Given the description of an element on the screen output the (x, y) to click on. 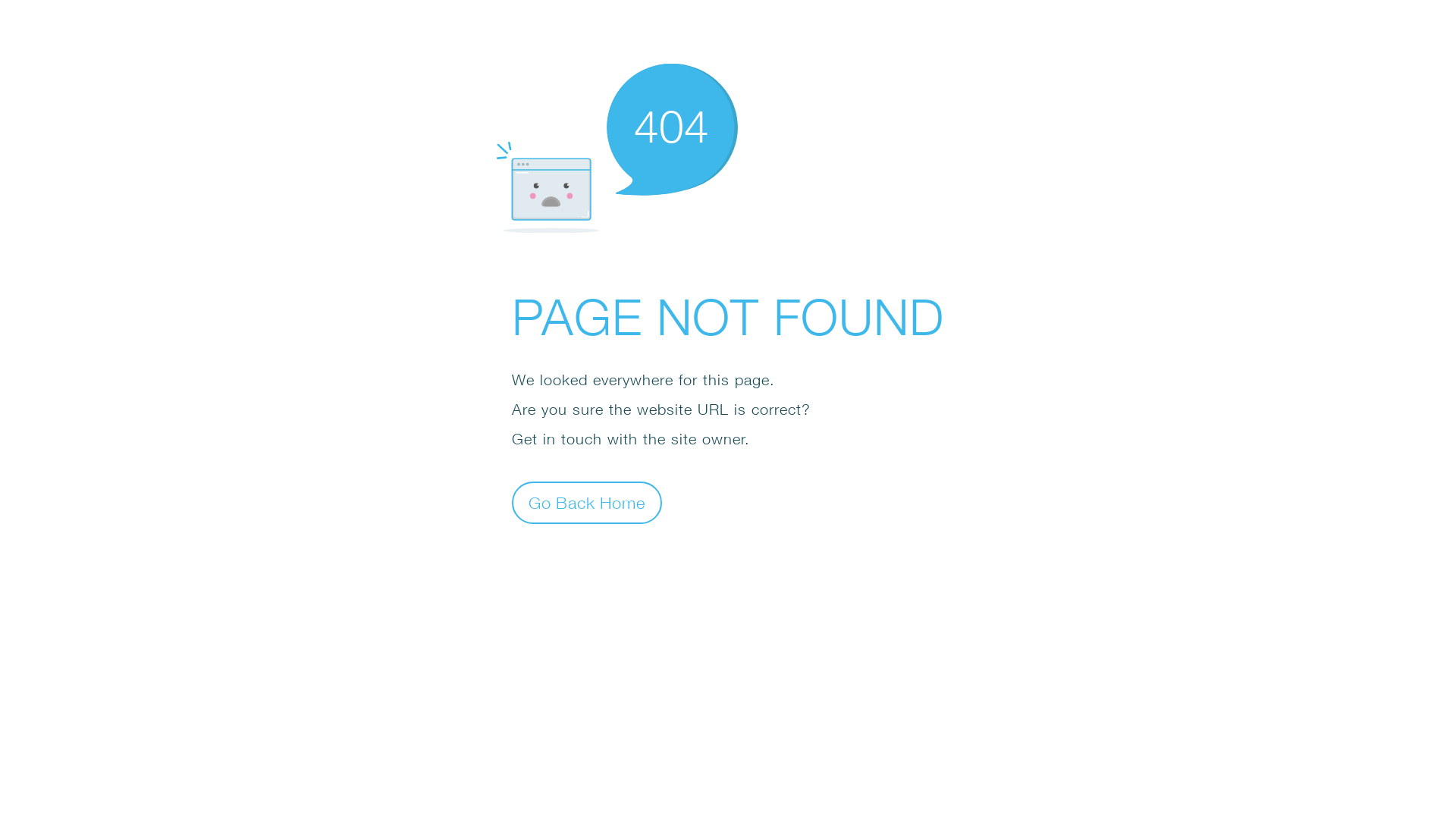
Go Back Home Element type: text (586, 502)
